Given the description of an element on the screen output the (x, y) to click on. 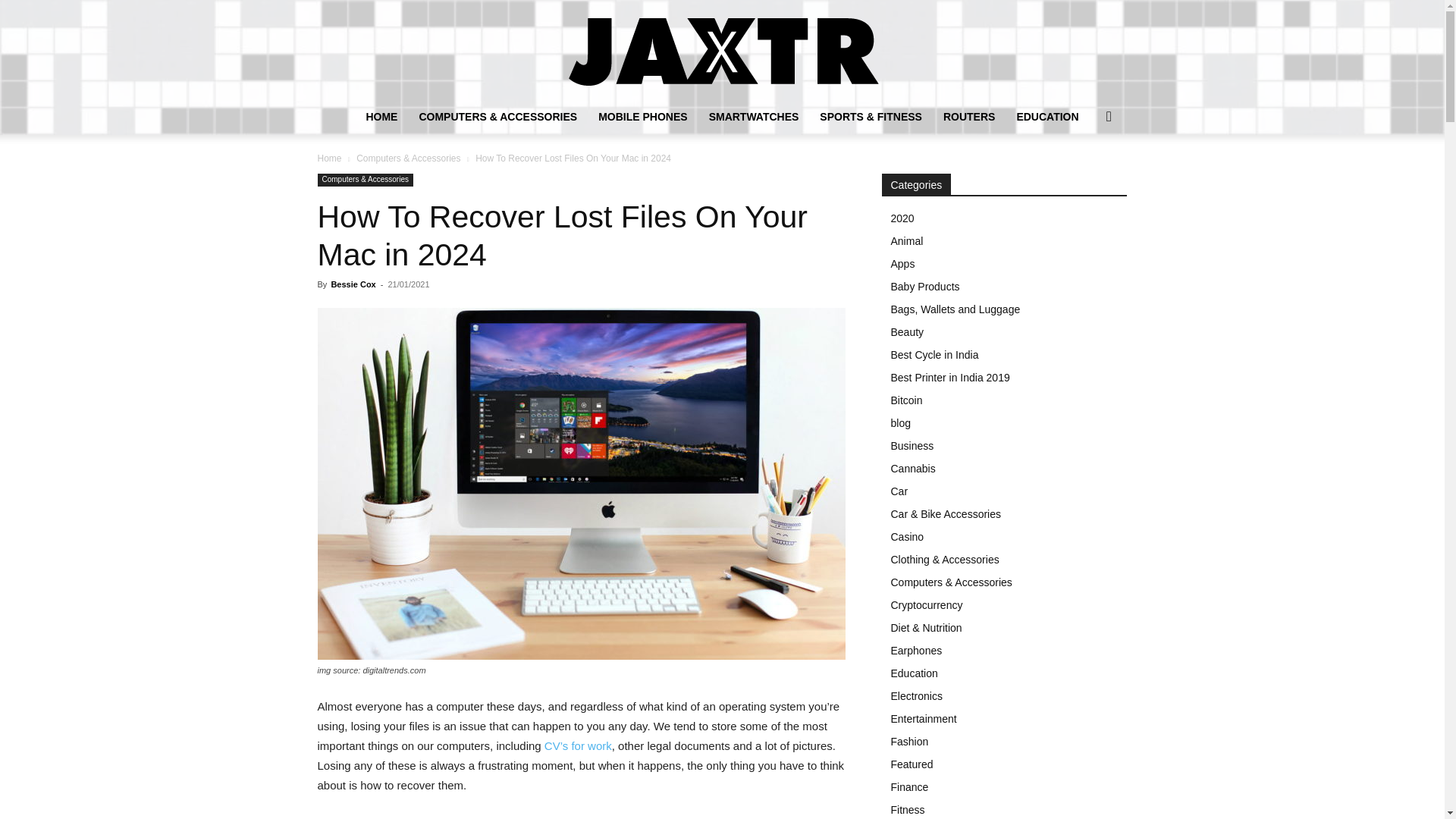
EDUCATION (1047, 116)
Bessie Cox (352, 284)
MOBILE PHONES (642, 116)
SMARTWATCHES (753, 116)
HOME (381, 116)
Search (1085, 177)
Home (328, 158)
ROUTERS (969, 116)
